Given the description of an element on the screen output the (x, y) to click on. 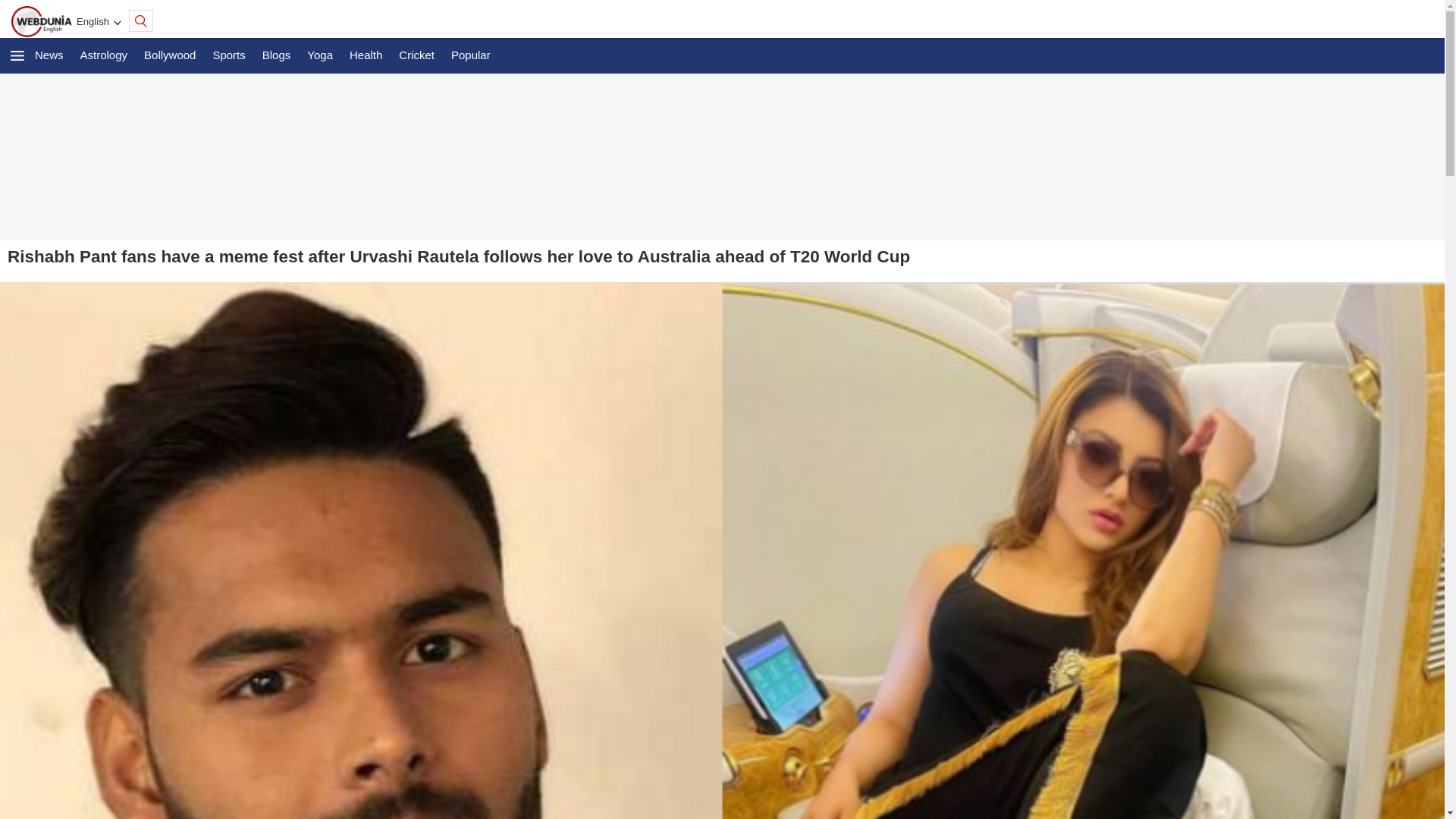
Cricket (416, 54)
Health (366, 54)
Blogs (276, 54)
Bollywood (169, 54)
Astrology (103, 54)
Sports (228, 54)
News (49, 54)
Yoga (319, 54)
English (92, 21)
